Given the description of an element on the screen output the (x, y) to click on. 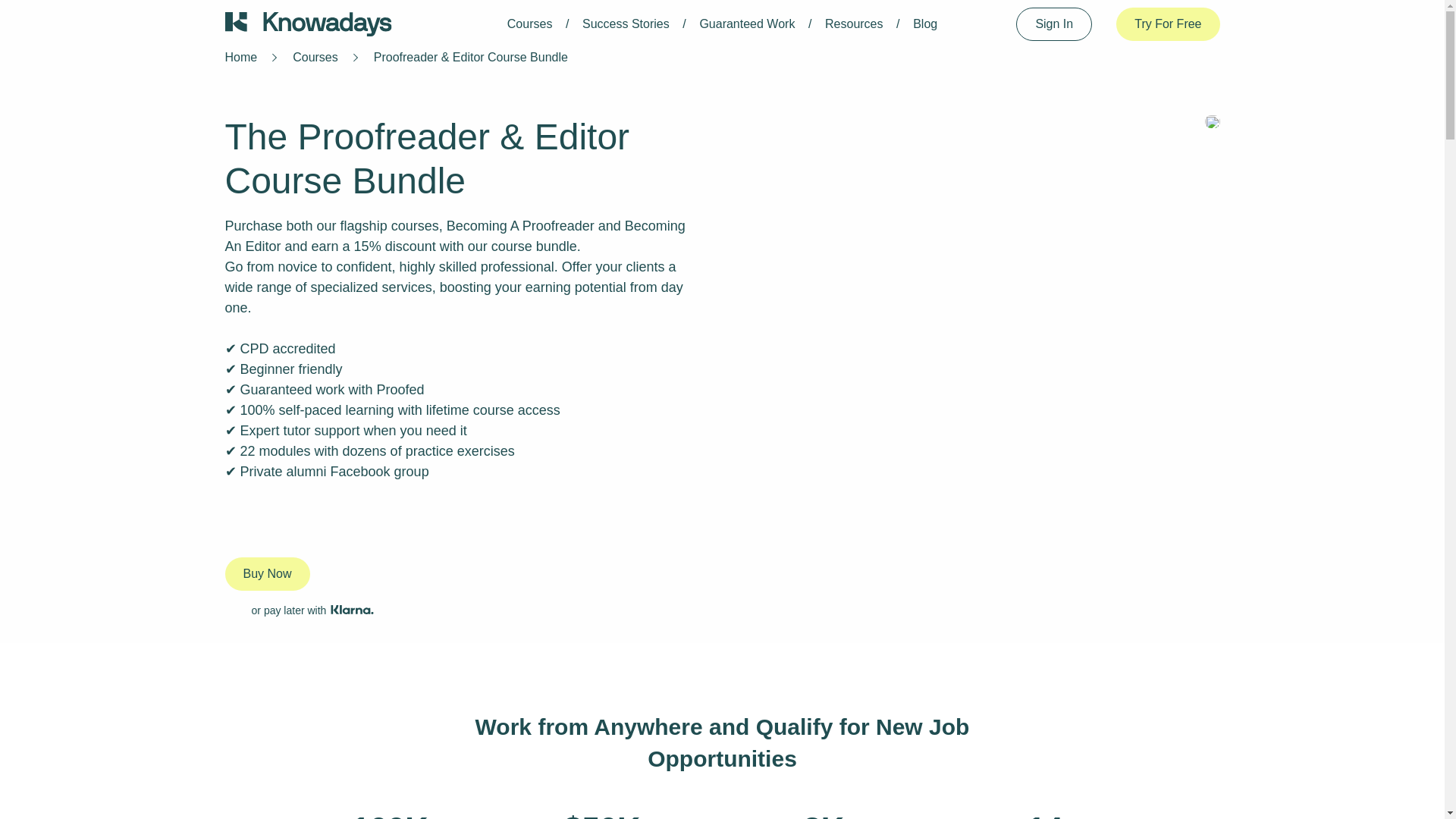
Try For Free (1168, 23)
Home (240, 57)
Guaranteed Work (746, 23)
Resources (853, 23)
Courses (314, 57)
Blog (924, 23)
Success Stories (625, 23)
Sign In (1054, 23)
Buy Now (266, 573)
Courses (529, 23)
